Given the description of an element on the screen output the (x, y) to click on. 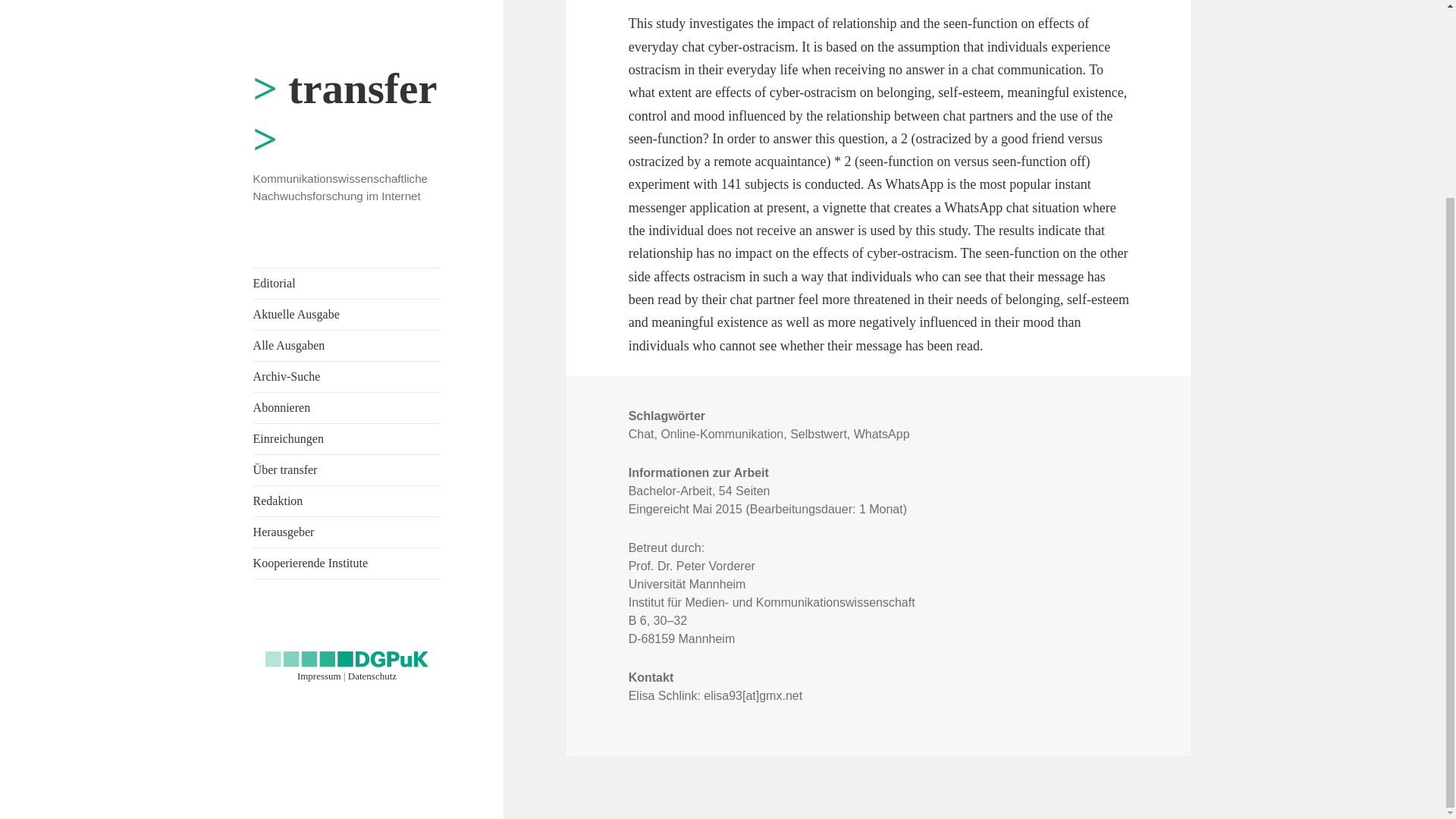
Einreichungen (347, 187)
Datenschutz (371, 424)
Archiv-Suche (347, 125)
Herausgeber (347, 281)
Editorial (347, 32)
WhatsApp (881, 434)
DGPuK (347, 404)
Selbstwert (818, 434)
Abonnieren (347, 156)
Redaktion (347, 250)
